Given the description of an element on the screen output the (x, y) to click on. 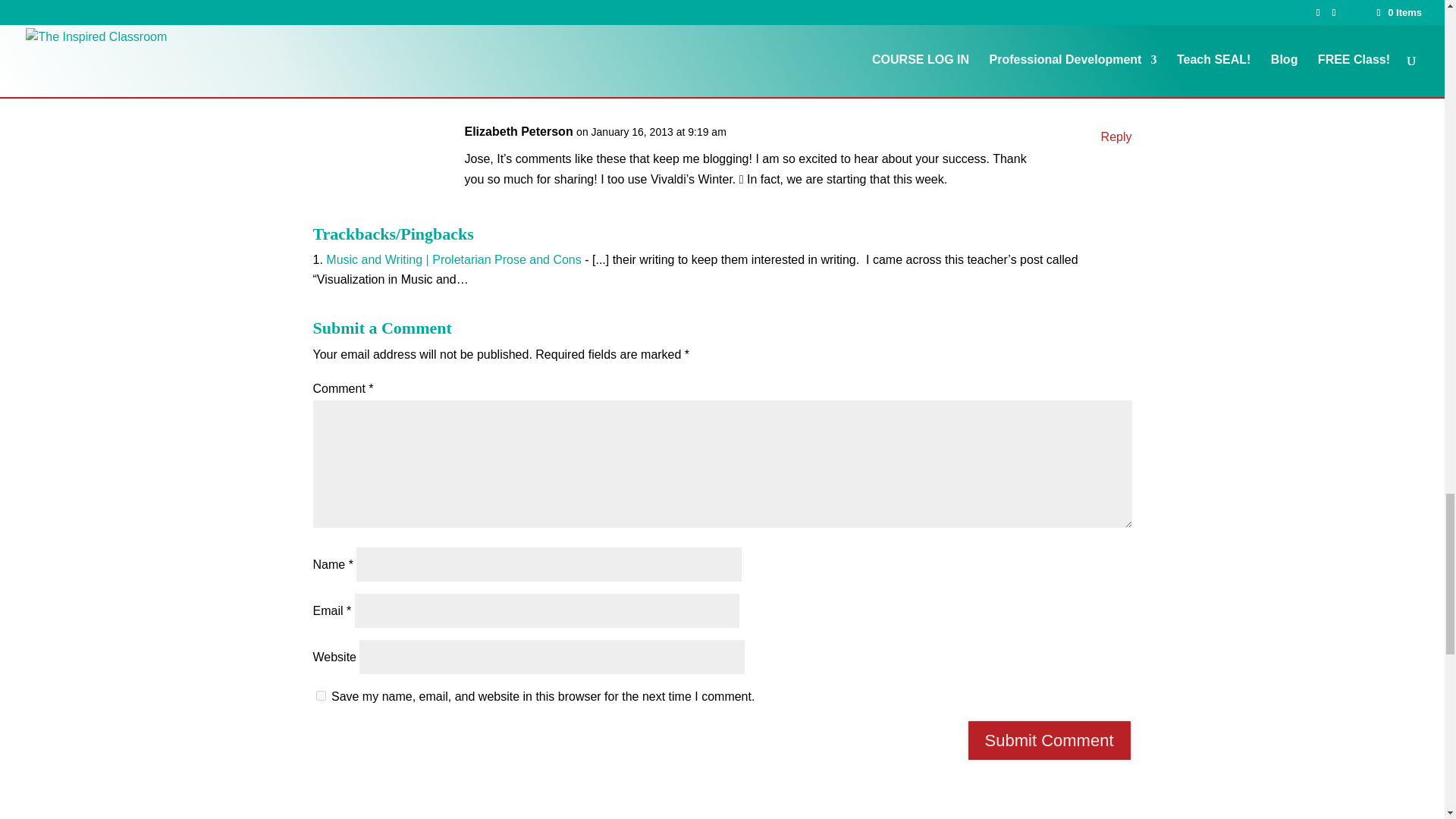
Submit Comment (1049, 740)
Elizabeth Peterson (518, 131)
Submit Comment (1049, 740)
Reply (1116, 136)
yes (319, 696)
